Given the description of an element on the screen output the (x, y) to click on. 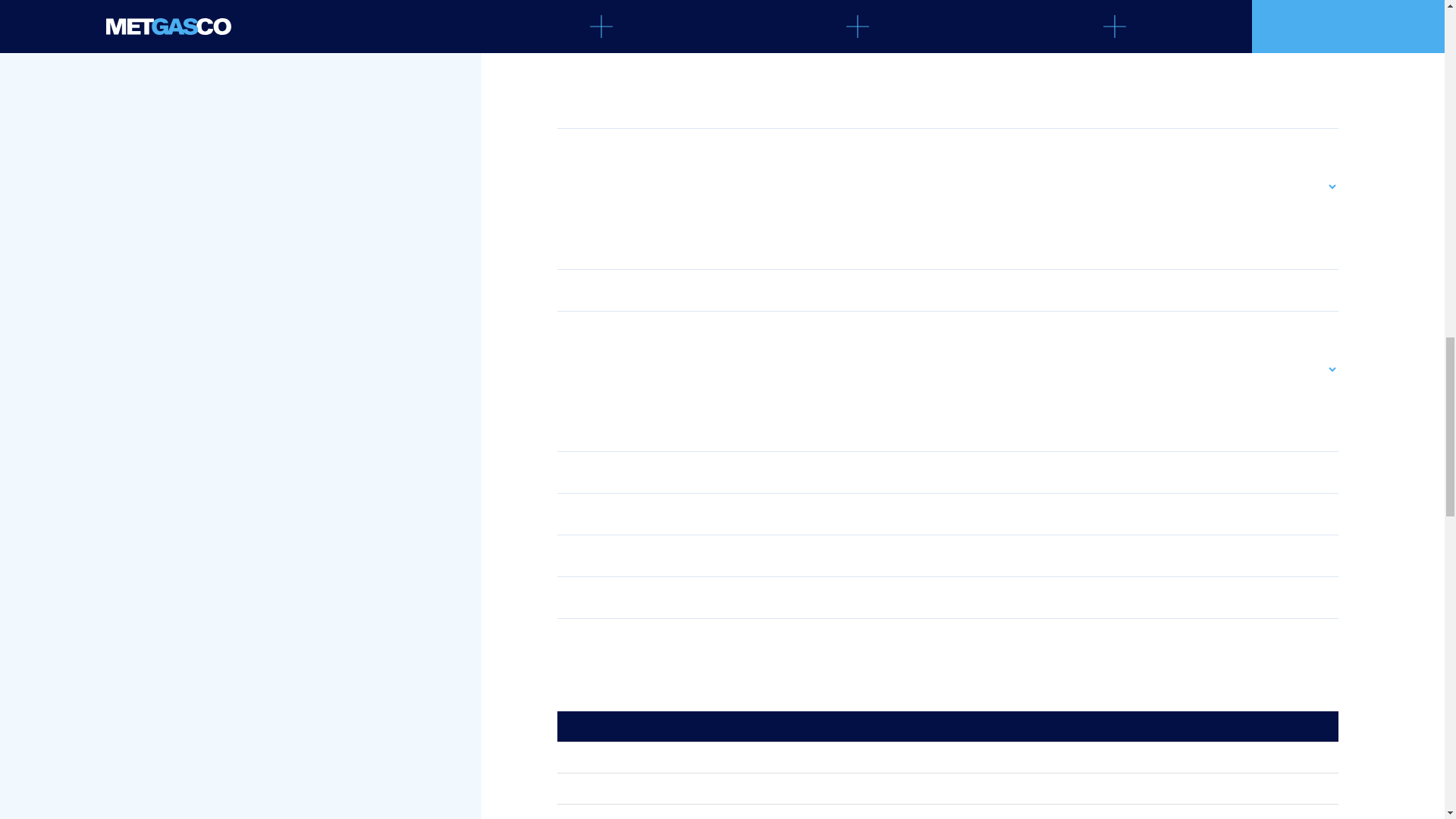
23 November 2023
KBC: Metgasco Ltd Loan Element type: text (947, 802)
